Given the description of an element on the screen output the (x, y) to click on. 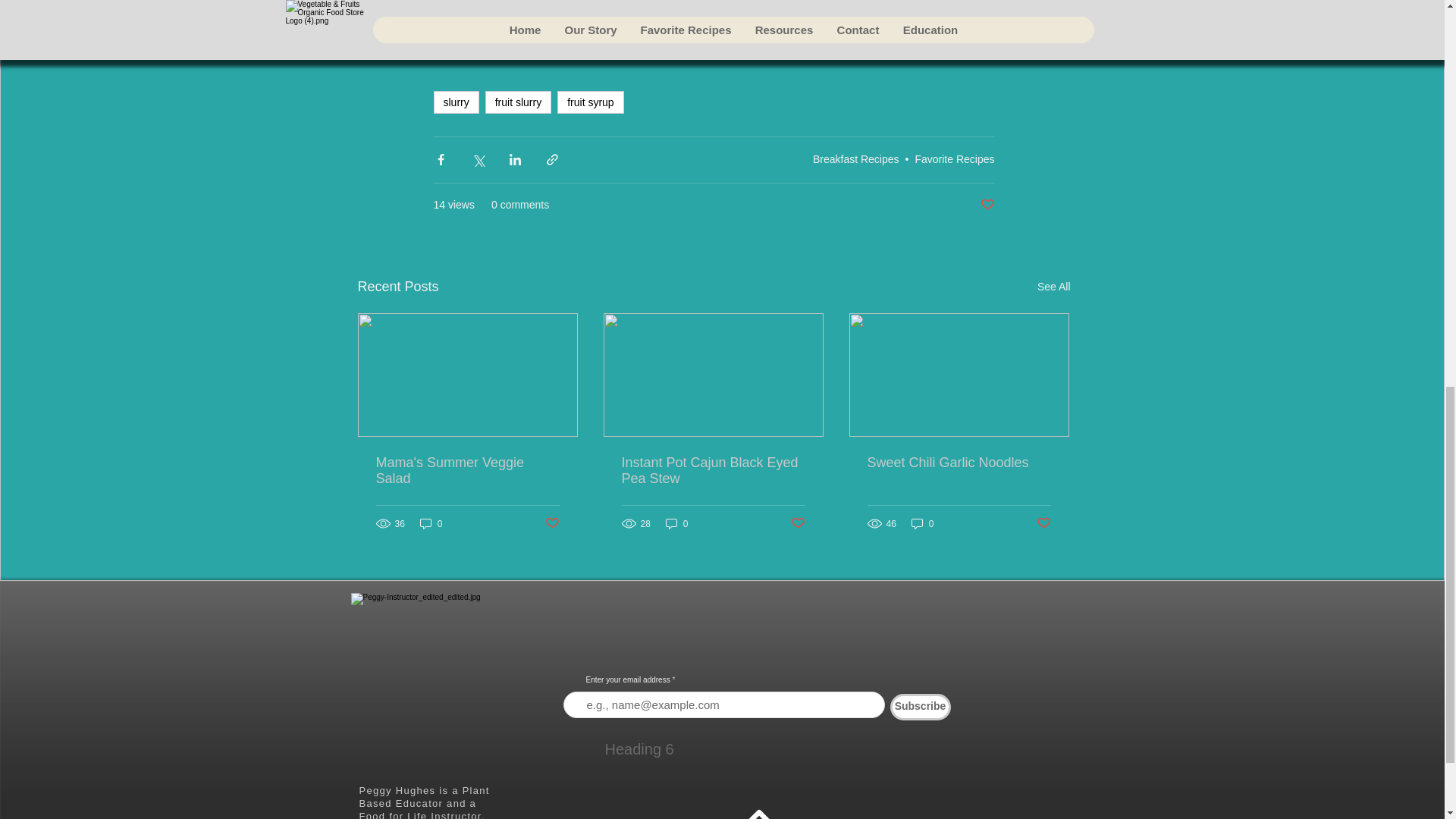
Breakfast Recipes (855, 159)
0 (431, 523)
Favorite Recipes (954, 159)
See All (1053, 287)
Mama's Summer Veggie Salad (467, 470)
Post not marked as liked (986, 204)
Post not marked as liked (551, 523)
slurry (456, 101)
fruit slurry (517, 101)
fruit syrup (590, 101)
